Given the description of an element on the screen output the (x, y) to click on. 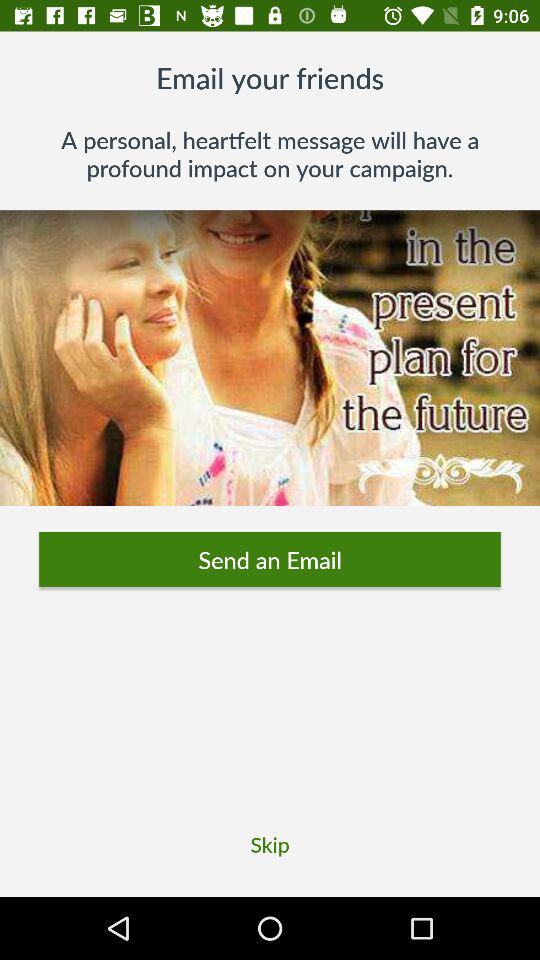
select the skip item (270, 844)
